Given the description of an element on the screen output the (x, y) to click on. 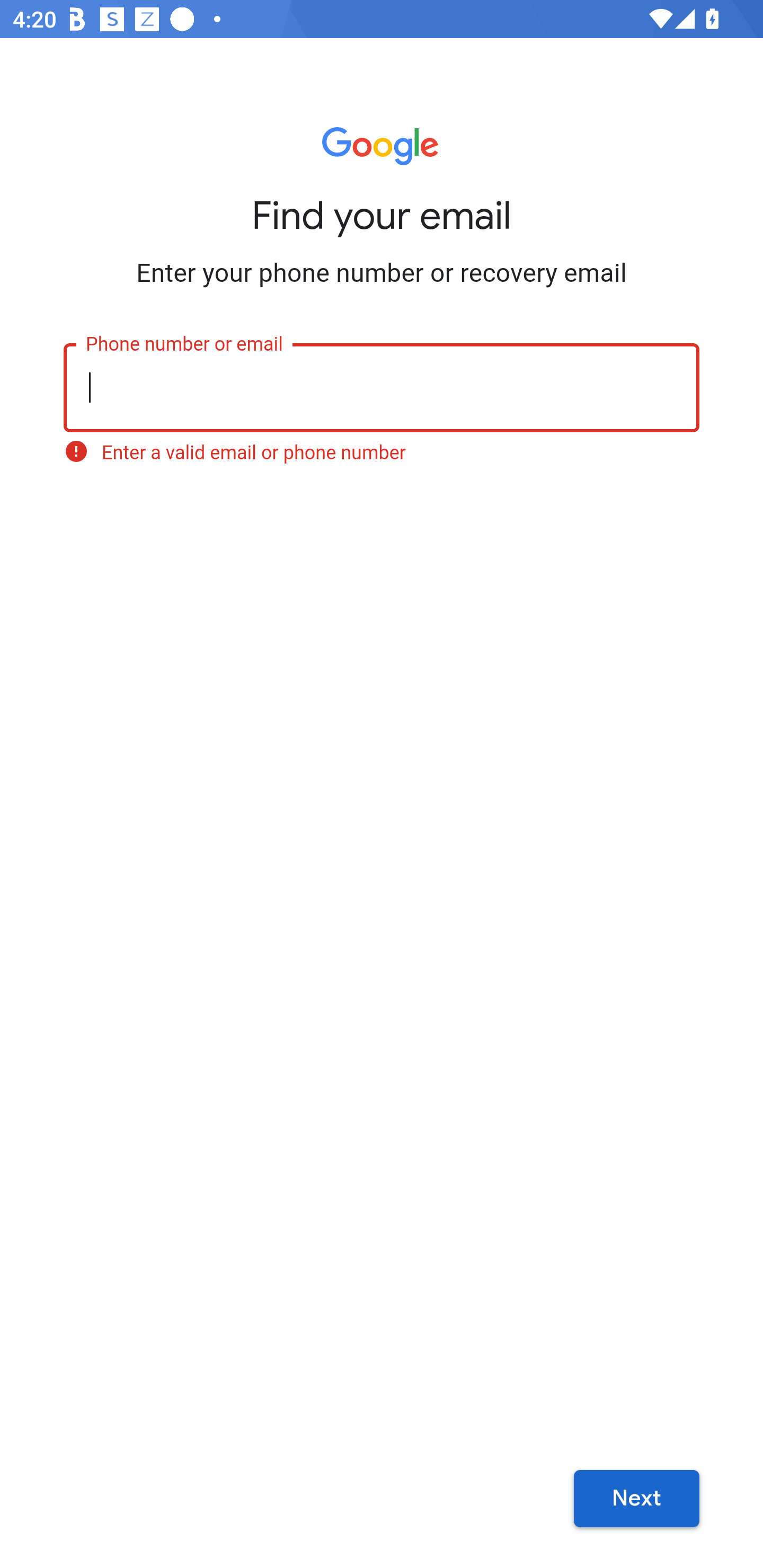
Next (635, 1498)
